Given the description of an element on the screen output the (x, y) to click on. 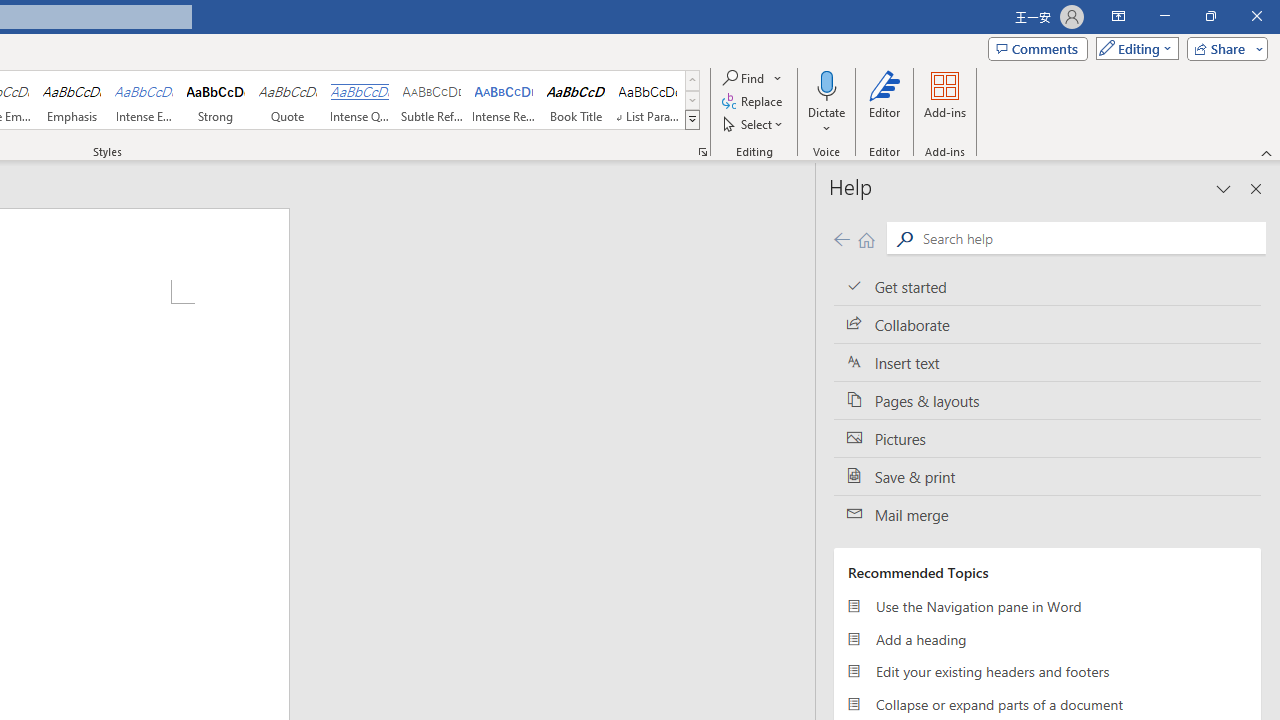
Subtle Reference (431, 100)
Dictate (826, 84)
Styles... (702, 151)
Intense Quote (359, 100)
Find (744, 78)
Share (1223, 48)
Row up (692, 79)
Task Pane Options (1224, 188)
Comments (1038, 48)
More Options (826, 121)
Collapse the Ribbon (1267, 152)
Save & print (1047, 476)
Mode (1133, 47)
Editor (885, 102)
Add a heading (1047, 638)
